Given the description of an element on the screen output the (x, y) to click on. 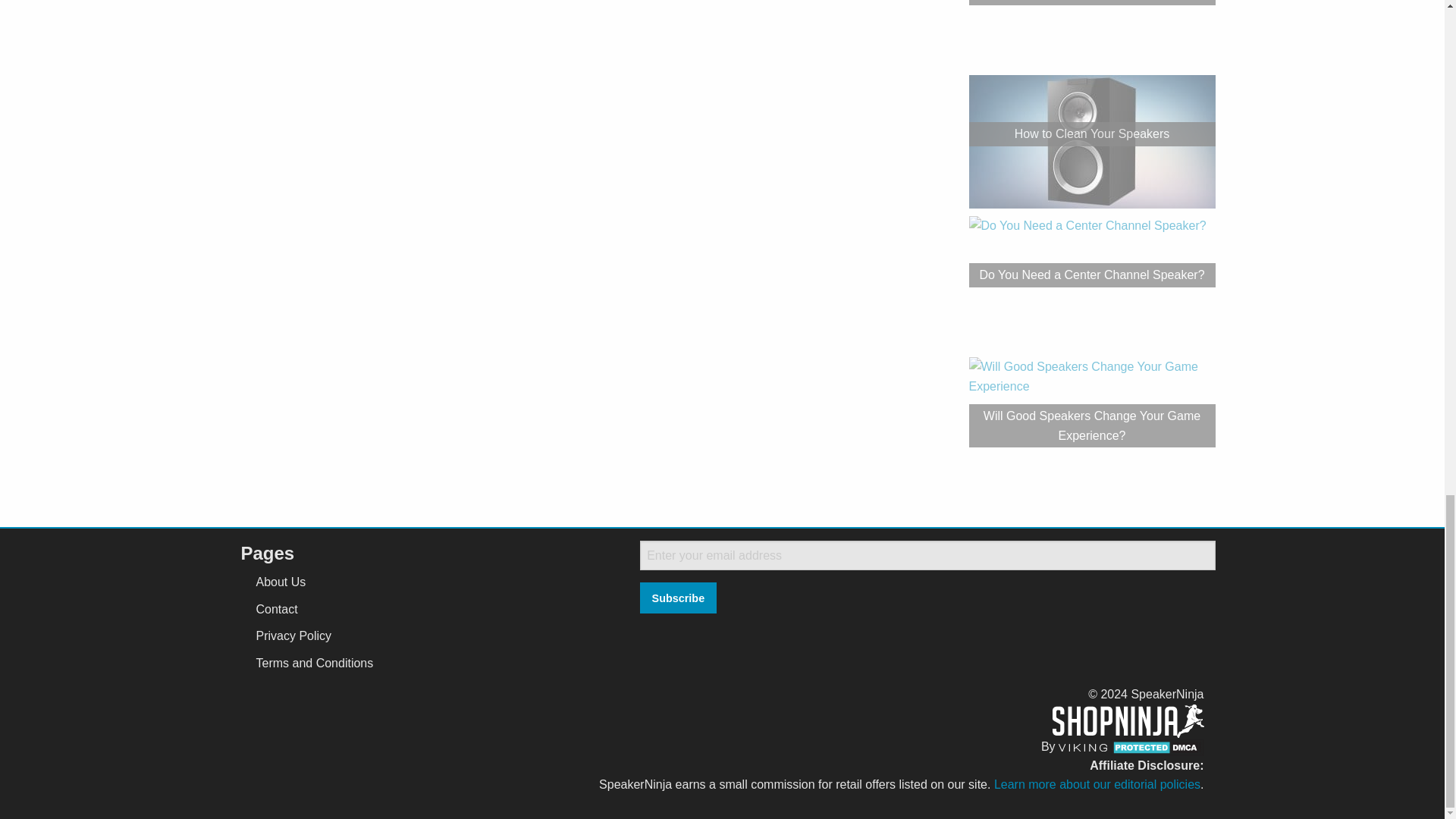
A Property of Viking (1082, 746)
Subscribe (678, 597)
ShopNinja (1128, 720)
Digital Architects (1082, 747)
DMCA.com Protection Status (1156, 746)
